Given the description of an element on the screen output the (x, y) to click on. 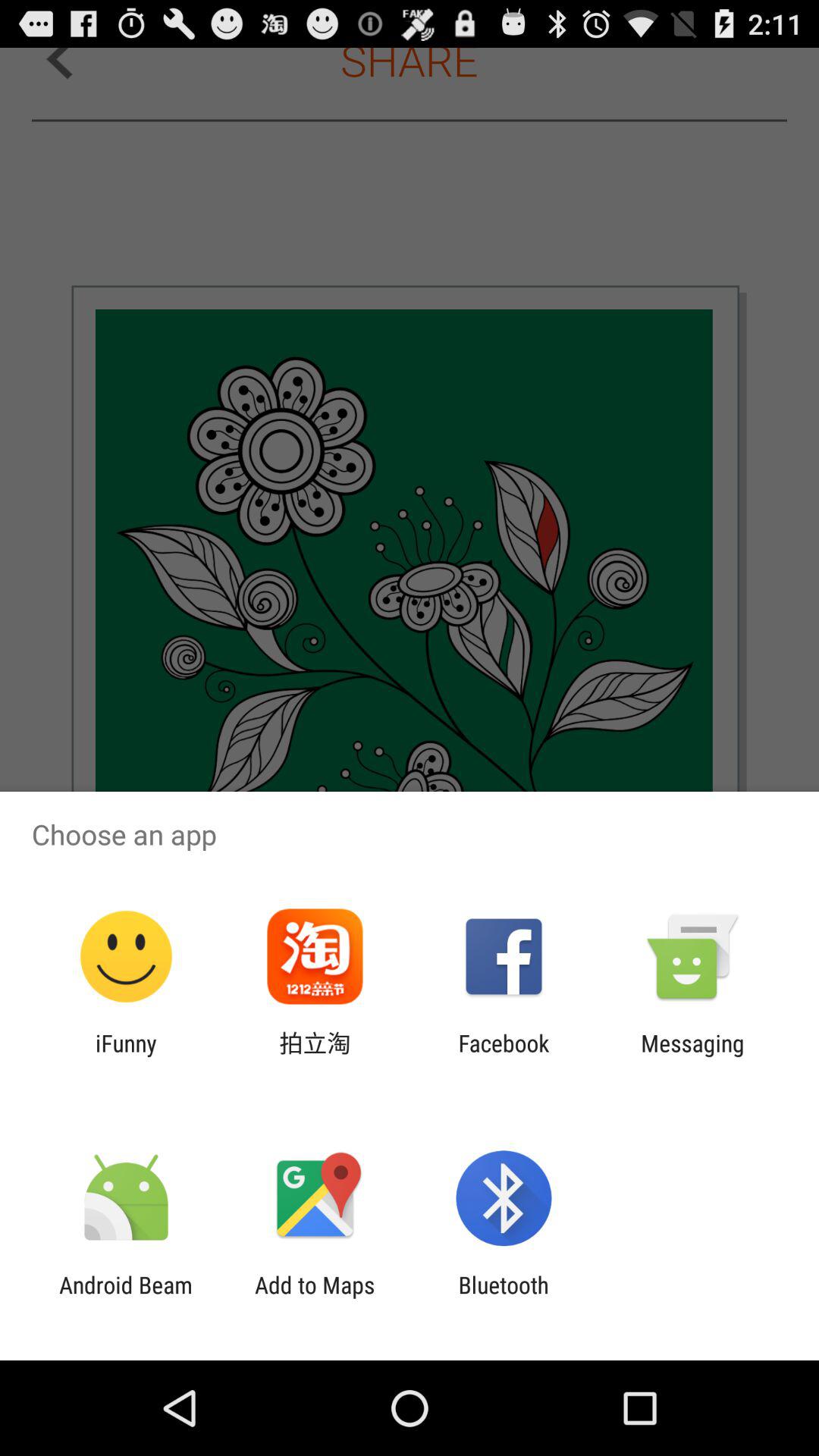
choose item next to the bluetooth app (314, 1298)
